Given the description of an element on the screen output the (x, y) to click on. 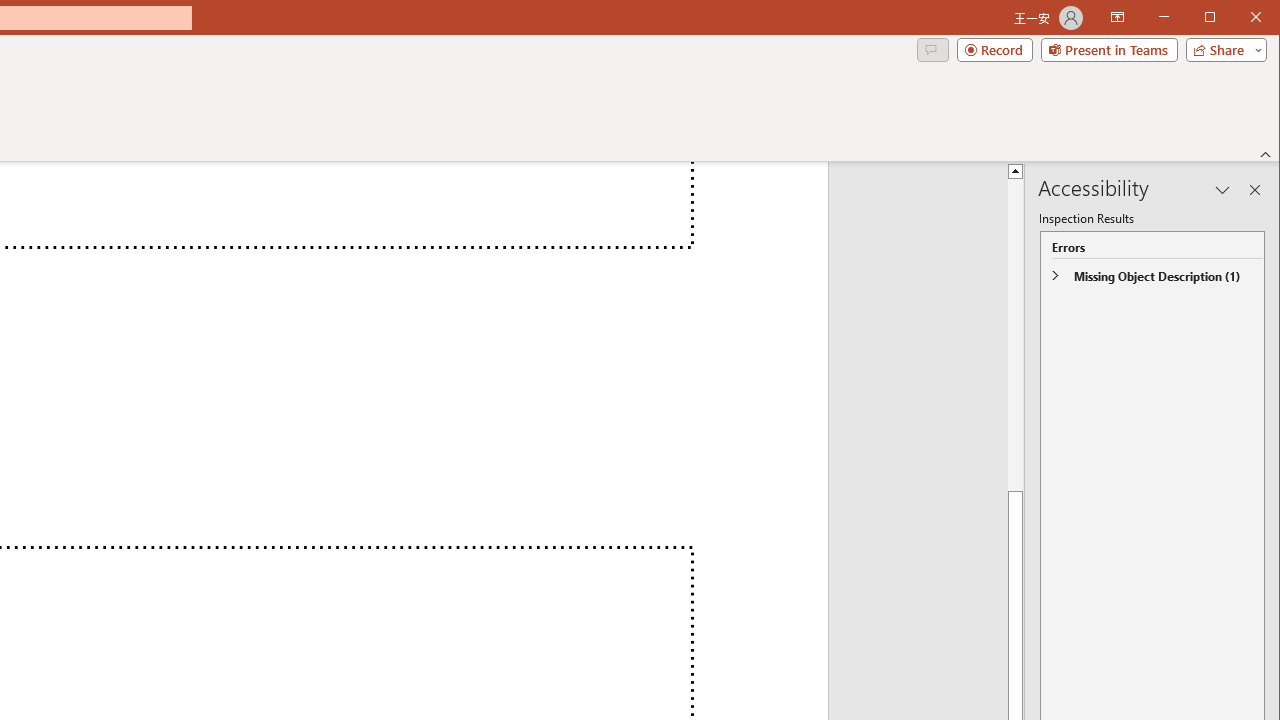
Maximize (1238, 18)
